Given the description of an element on the screen output the (x, y) to click on. 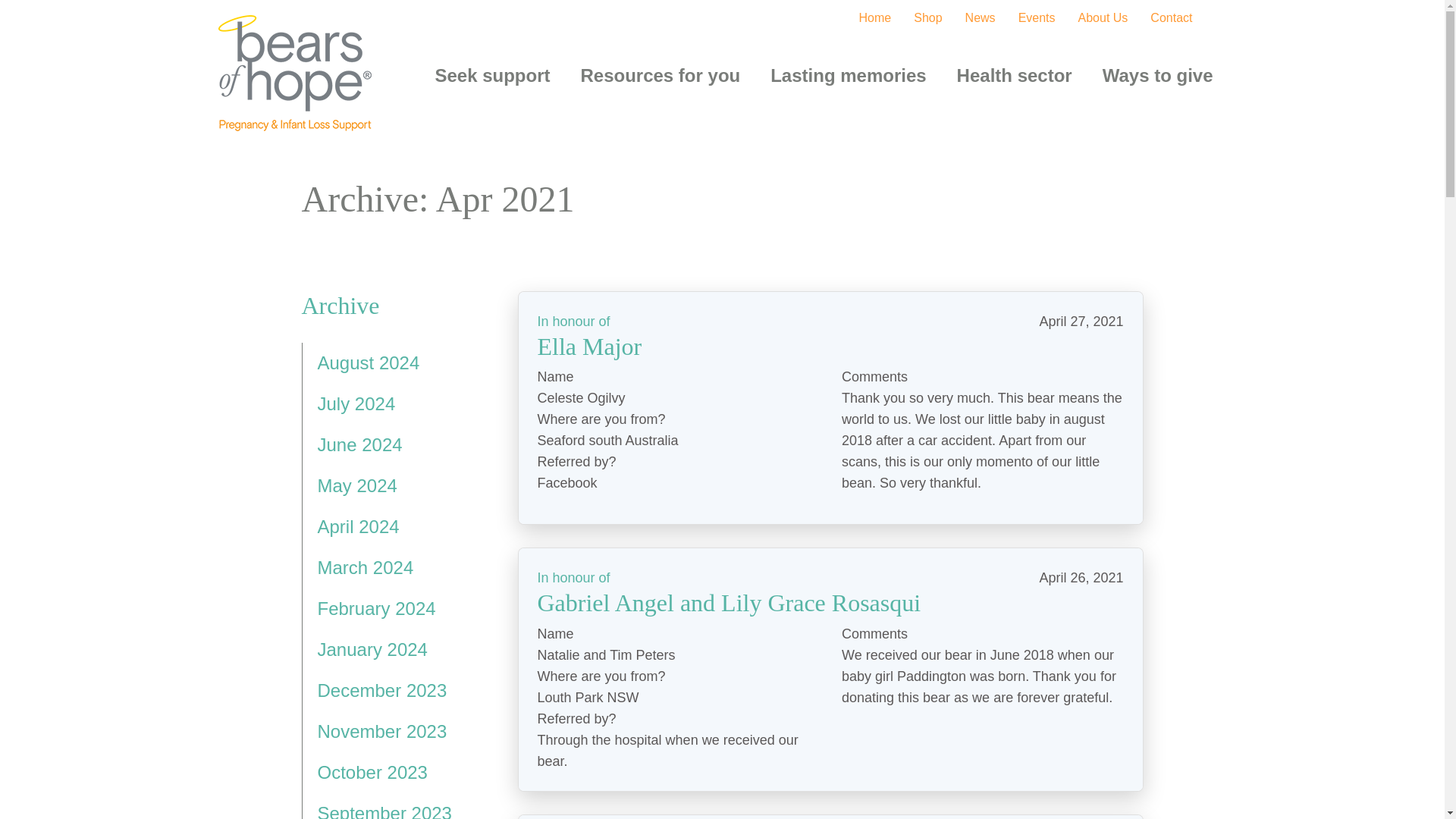
Contact (1171, 18)
Seek support (491, 75)
Shop (927, 18)
Resources for you (659, 75)
Events (1037, 18)
Site Search (1215, 18)
Lasting memories (847, 75)
About Us (1103, 18)
News (980, 18)
Home (874, 18)
